Given the description of an element on the screen output the (x, y) to click on. 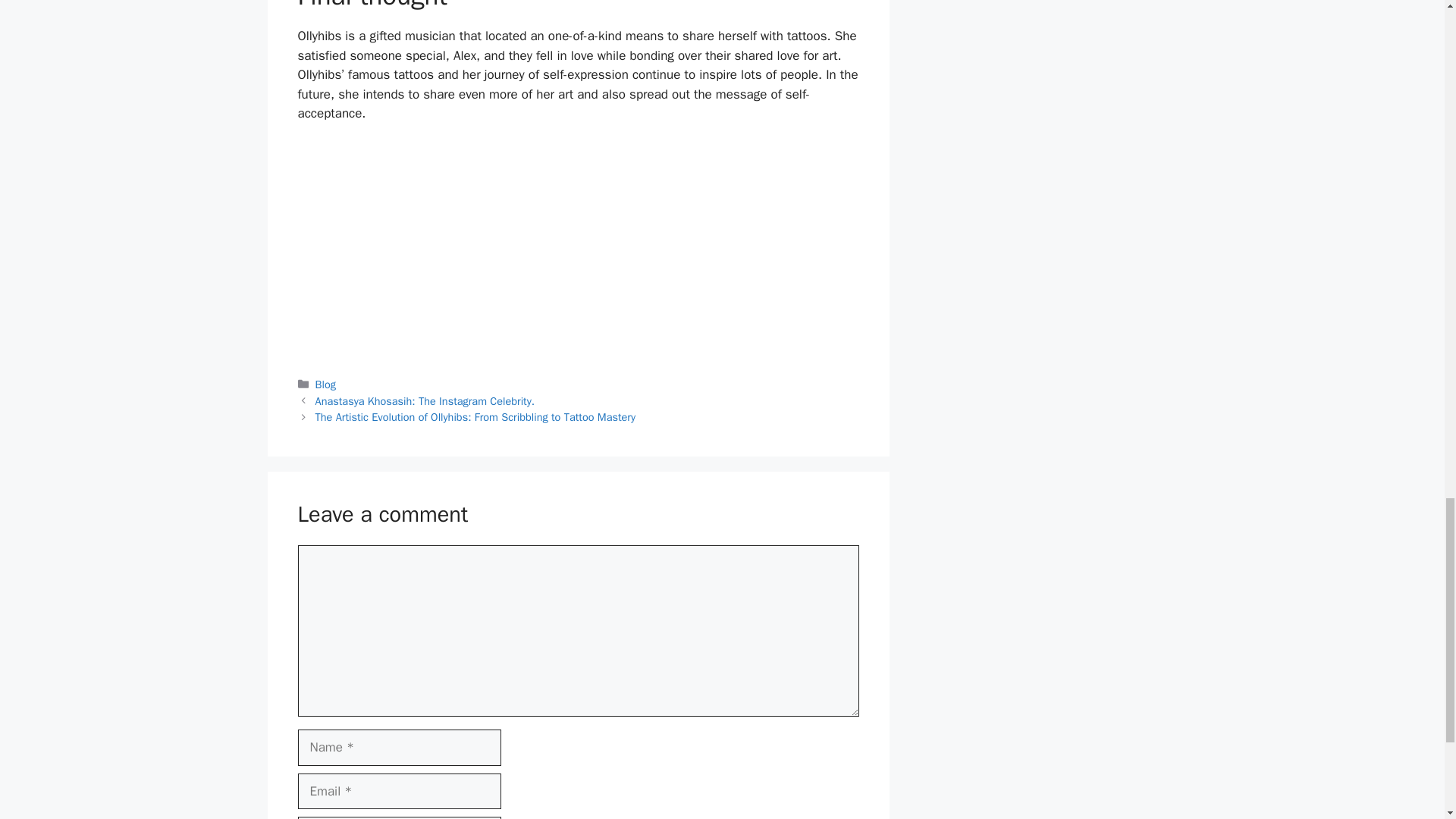
Advertisement (576, 248)
Anastasya Khosasih: The Instagram Celebrity. (425, 400)
Blog (325, 384)
